Given the description of an element on the screen output the (x, y) to click on. 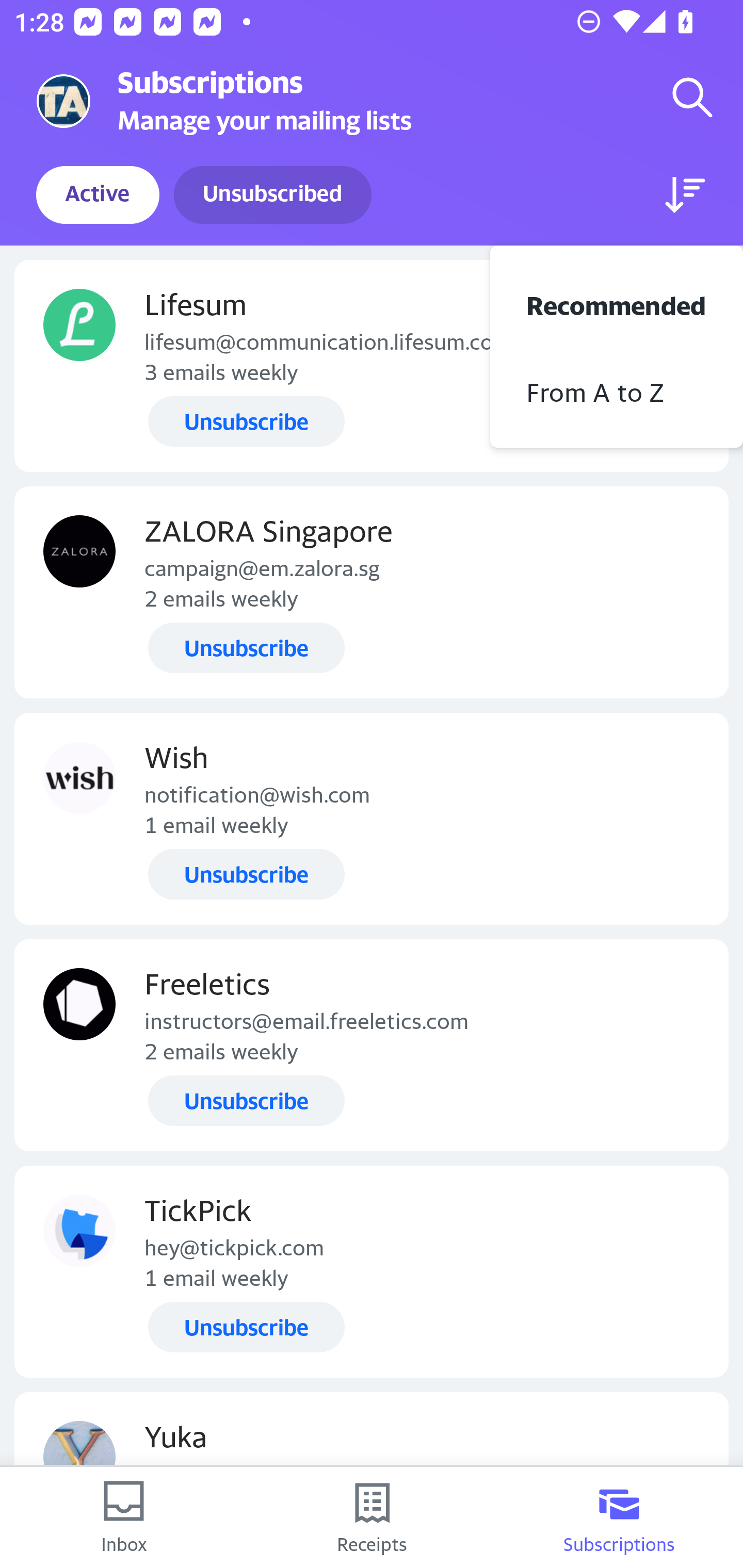
Recommended (616, 303)
From A to Z (616, 389)
